Given the description of an element on the screen output the (x, y) to click on. 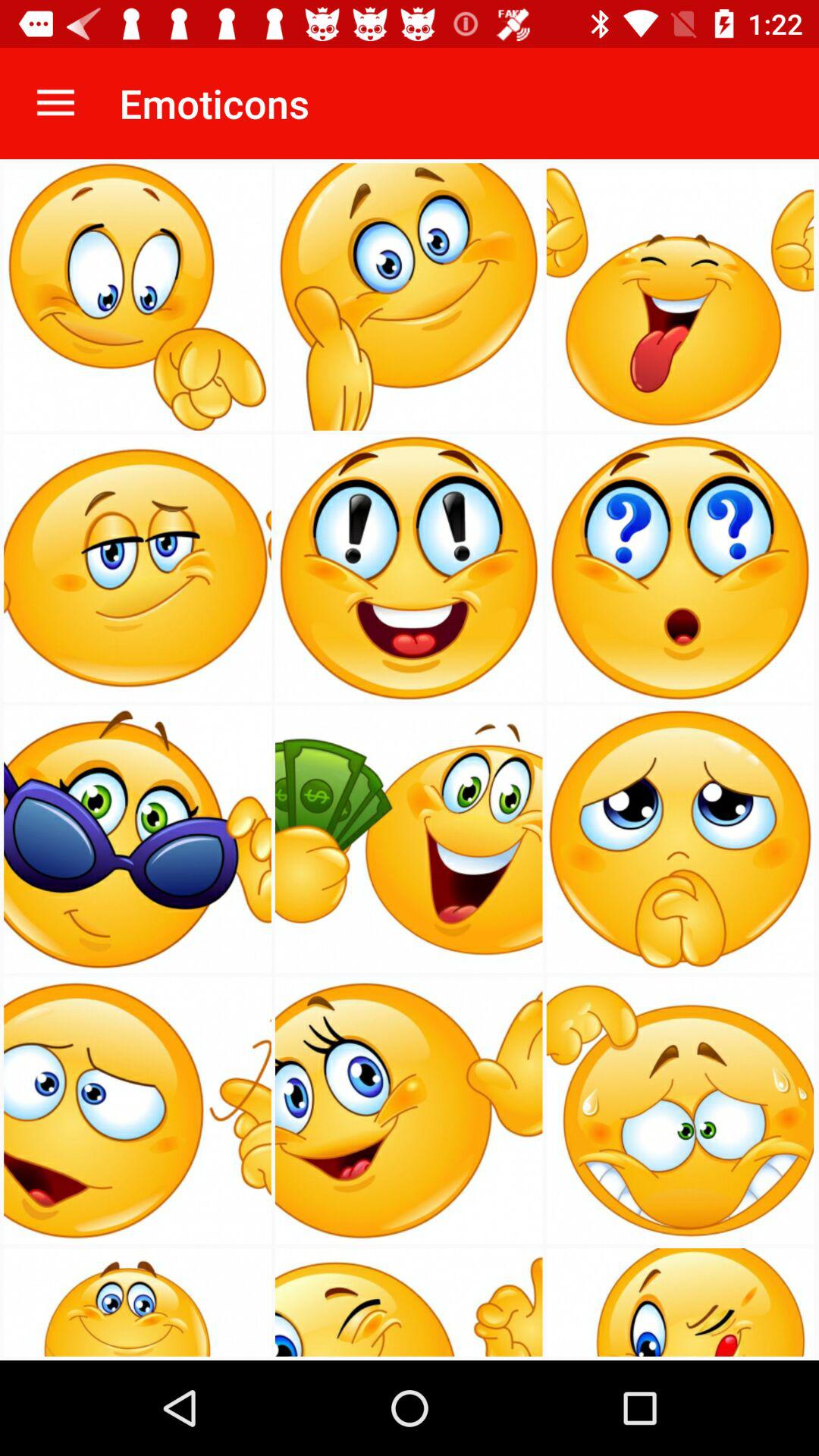
open icon next to the emoticons (55, 103)
